Given the description of an element on the screen output the (x, y) to click on. 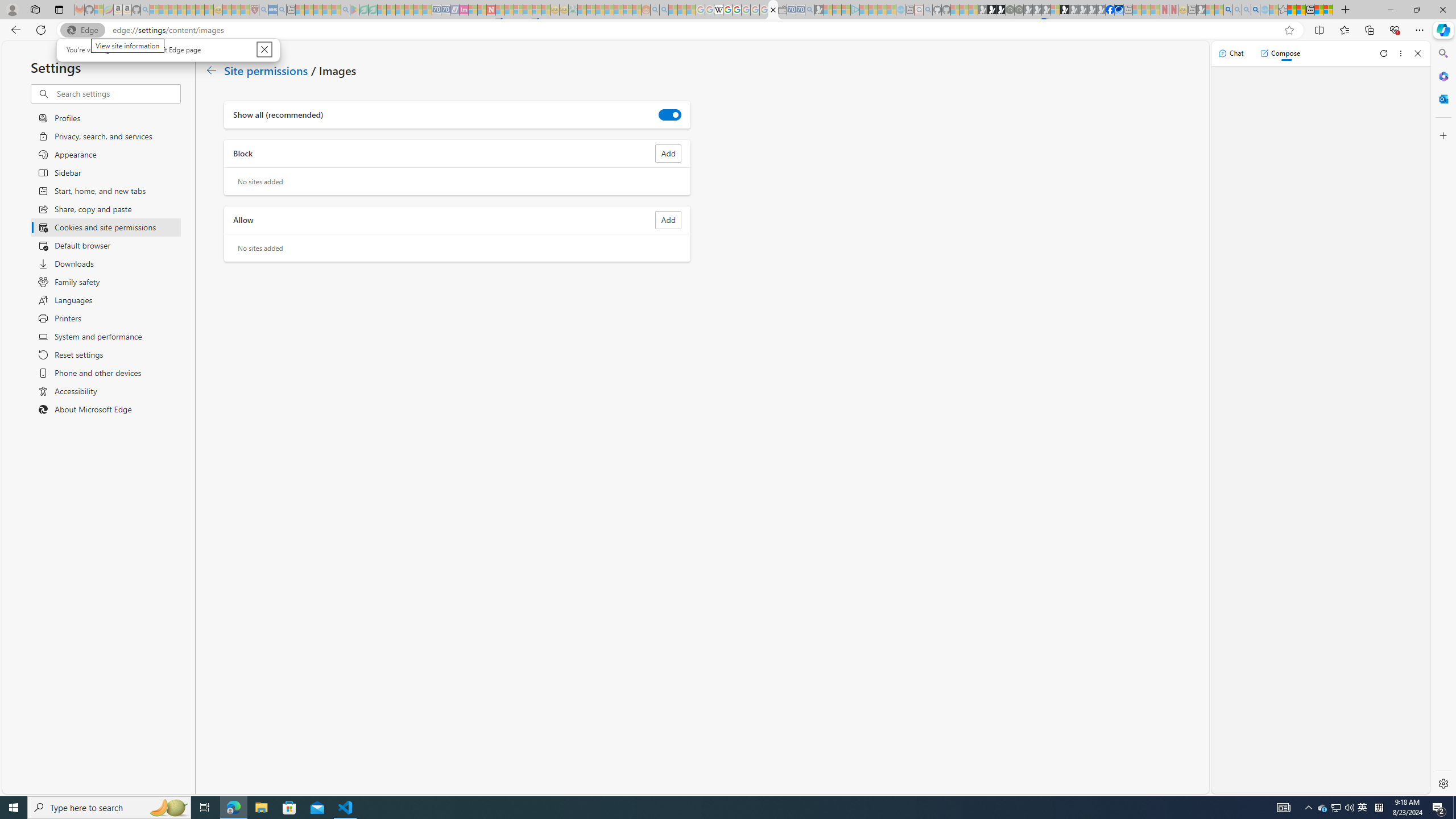
Favorites - Sleeping (1283, 9)
Action Center, 2 new notifications (1439, 807)
Q2790: 100% (1349, 807)
